Given the description of an element on the screen output the (x, y) to click on. 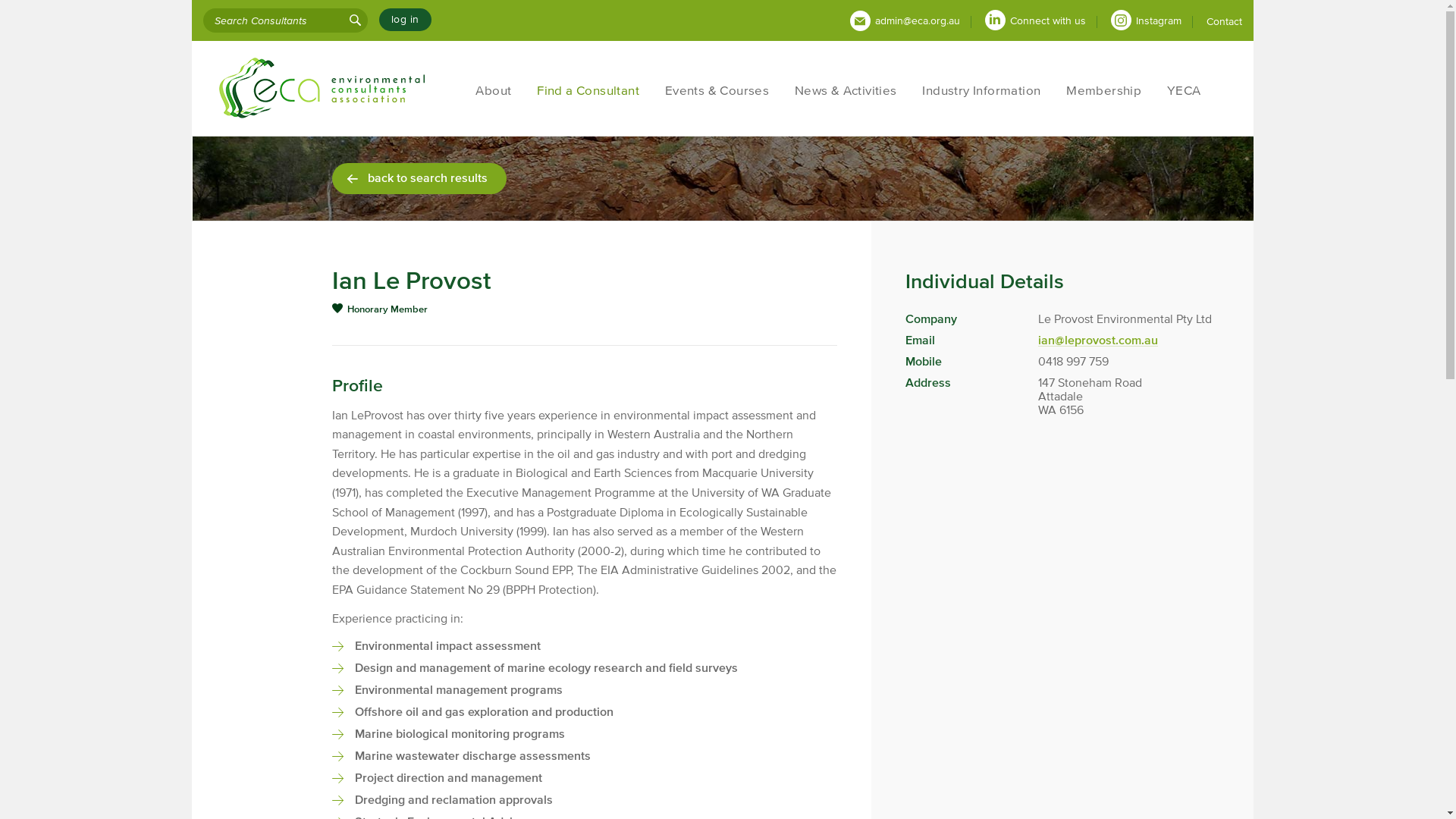
Industry Information Element type: text (981, 89)
Go Element type: text (354, 19)
Events & Courses Element type: text (716, 89)
About Element type: text (493, 89)
Instagram Element type: text (1156, 20)
admin@eca.org.au Element type: text (915, 20)
ian@leprovost.com.au Element type: text (1097, 339)
News & Activities Element type: text (845, 89)
log in Element type: text (405, 19)
Membership Element type: text (1103, 89)
YECA Element type: text (1183, 89)
back to search results Element type: text (419, 178)
Contact Element type: text (1223, 21)
Find a Consultant Element type: text (587, 89)
Connect with us Element type: text (1045, 20)
